Given the description of an element on the screen output the (x, y) to click on. 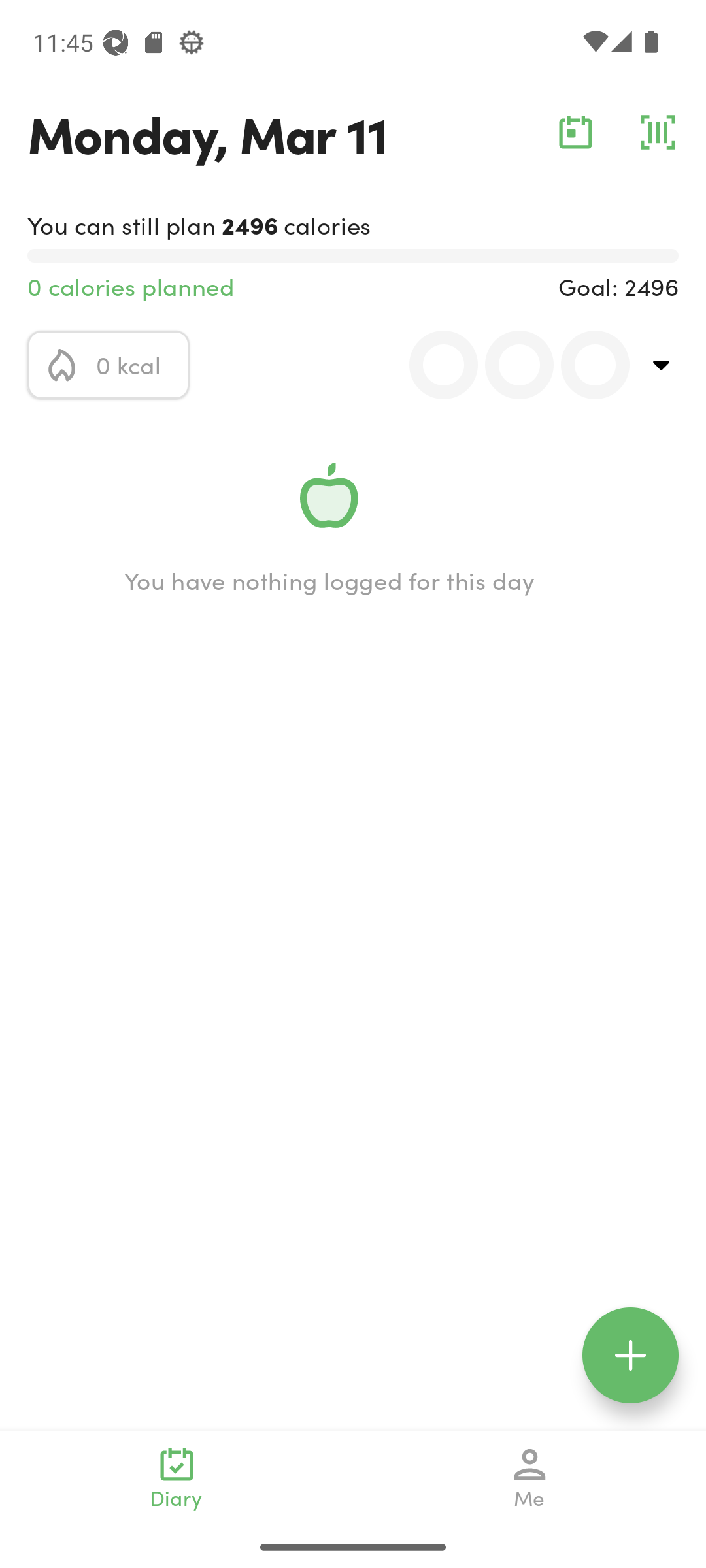
calendar_action (575, 132)
barcode_action (658, 132)
calorie_icon 0 kcal (108, 365)
0.0 0.0 0.0 (508, 365)
top_right_action (661, 365)
floating_action_icon (630, 1355)
Me navigation_icon (529, 1478)
